Given the description of an element on the screen output the (x, y) to click on. 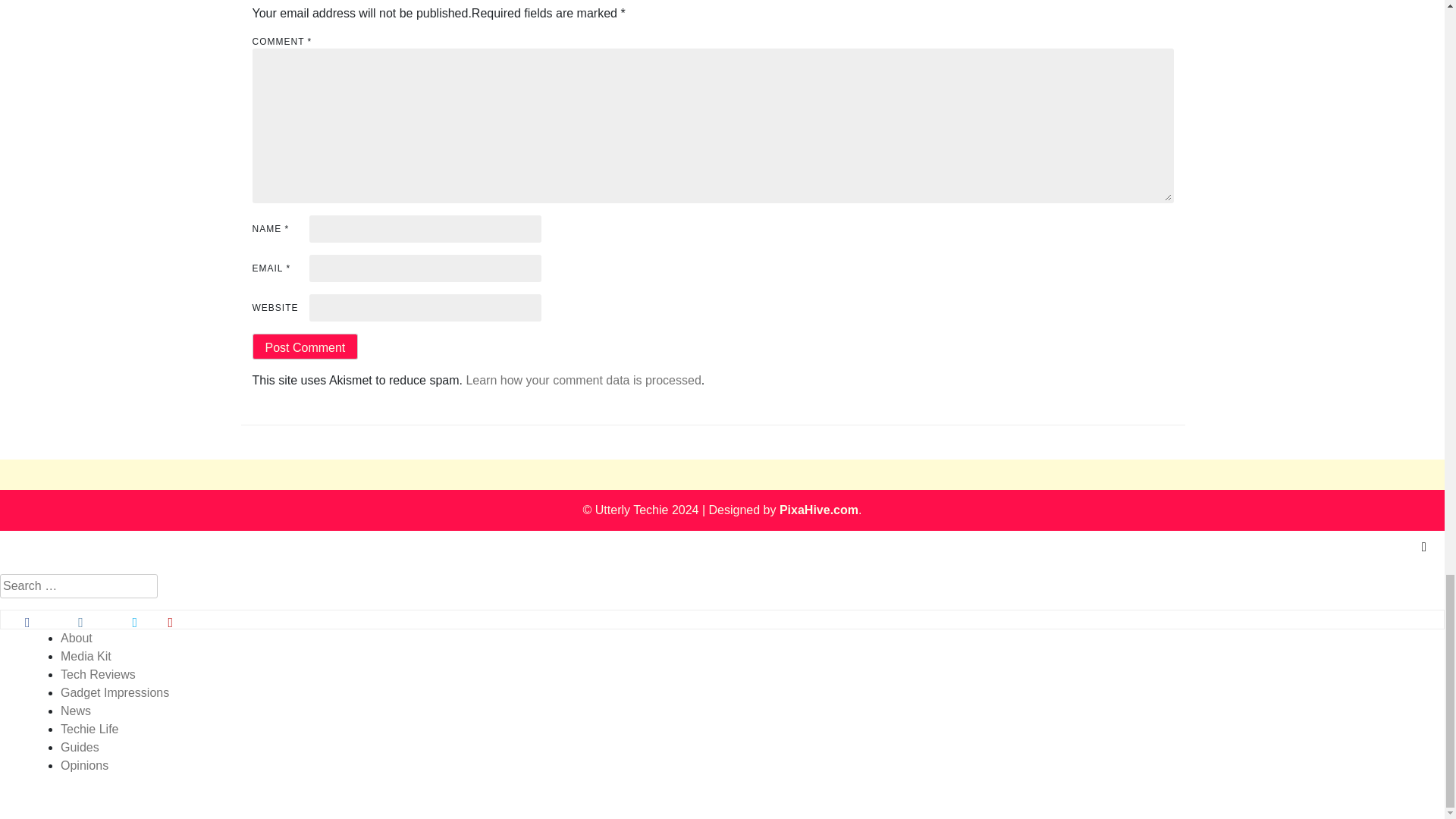
Post Comment (304, 346)
Learn how your comment data is processed (582, 379)
Post Comment (304, 346)
